Given the description of an element on the screen output the (x, y) to click on. 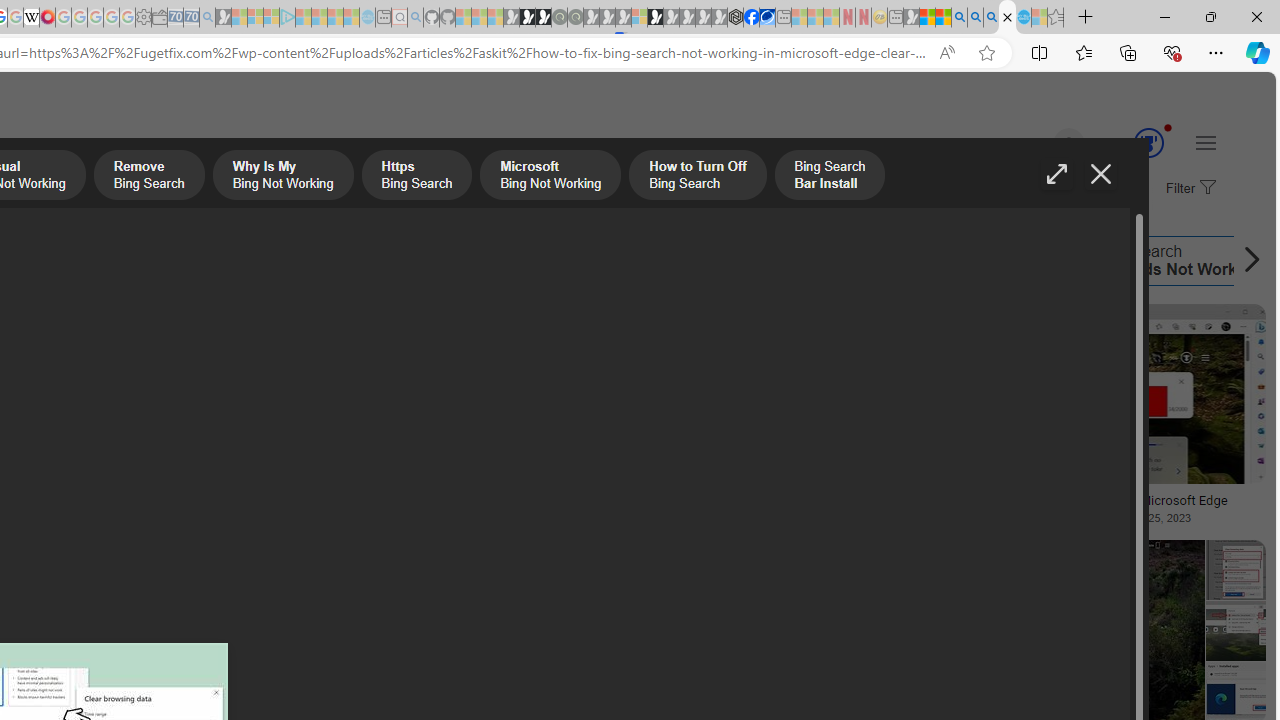
Class: item col (928, 260)
Scroll right (1246, 260)
Bing Crosby Christmas Album (143, 373)
Nordace | Facebook (751, 17)
Why Is My Bing Not Working (283, 177)
Bing Real Estate - Home sales and rental listings - Sleeping (207, 17)
How to Turn Off Bing Search (340, 260)
3:16 (982, 322)
